Given the description of an element on the screen output the (x, y) to click on. 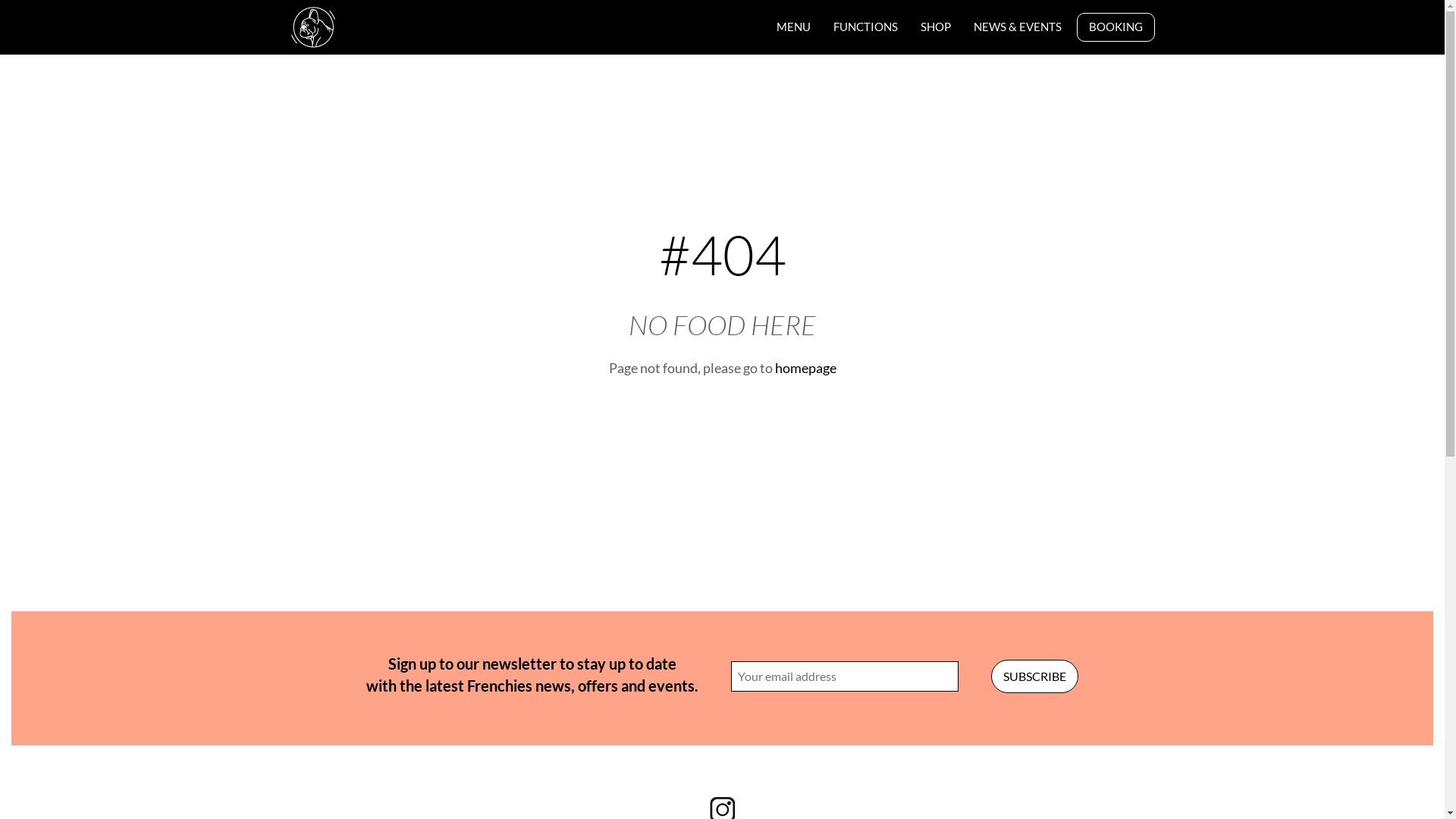
homepage Element type: text (805, 367)
NEWS & EVENTS Element type: text (1016, 26)
FUNCTIONS Element type: text (865, 26)
MENU Element type: text (792, 26)
SHOP Element type: text (934, 26)
BOOKING Element type: text (1114, 26)
Subscribe Element type: text (1034, 676)
